Given the description of an element on the screen output the (x, y) to click on. 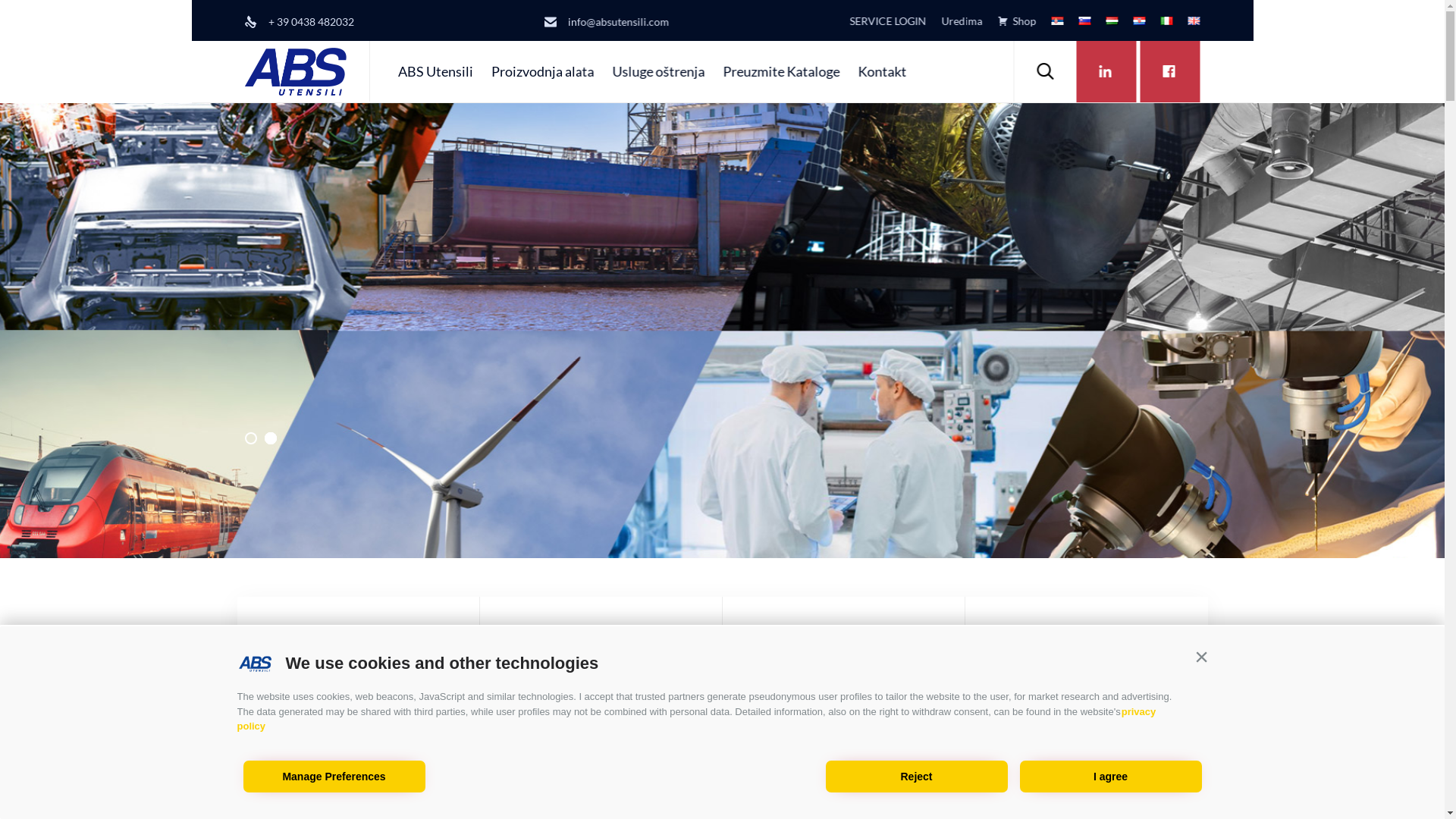
Uredima Element type: text (954, 20)
ABS Utensili Element type: text (434, 70)
info@absutensili.com Element type: text (617, 21)
Preuzmite Kataloge Element type: text (780, 70)
Manage Preferences Element type: text (333, 776)
I agree Element type: text (1110, 776)
Proizvodnja alata Element type: text (578, 657)
Reject Element type: text (916, 776)
Skip to content Element type: text (1012, 40)
Proizvodnja alata Element type: text (541, 70)
+ 39 0438 482032 Element type: text (311, 21)
Kontakt Element type: text (881, 70)
privacy policy Element type: text (695, 719)
SERVICE LOGIN Element type: text (879, 20)
Shop Element type: text (1009, 20)
